Given the description of an element on the screen output the (x, y) to click on. 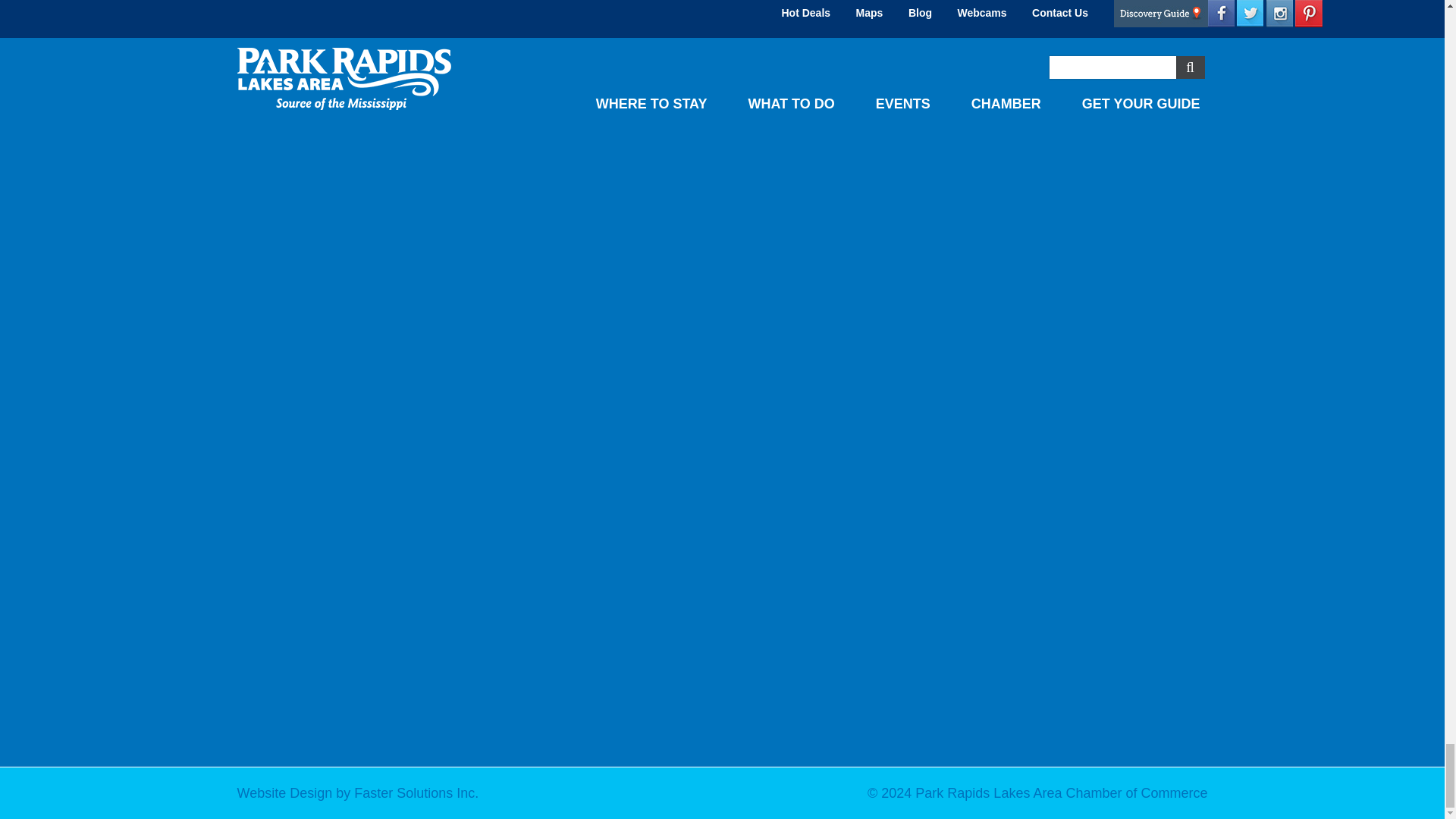
Park Rapids Downtown Business Association Logo (730, 50)
